Given the description of an element on the screen output the (x, y) to click on. 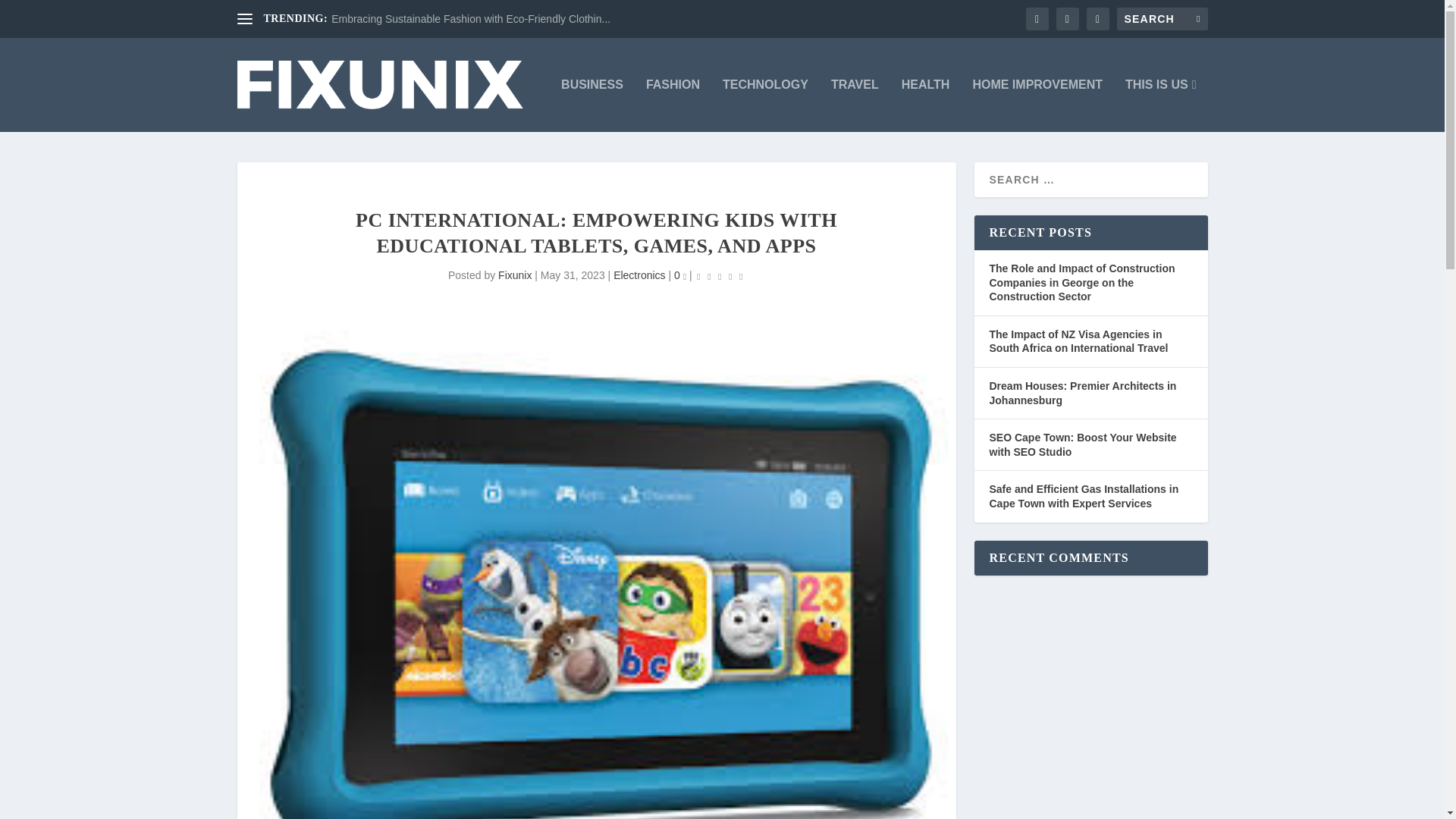
Fixunix (514, 275)
HEALTH (925, 104)
0 (679, 275)
BUSINESS (591, 104)
Rating: 0.00 (720, 275)
Search for: (1161, 18)
Embracing Sustainable Fashion with Eco-Friendly Clothin... (470, 19)
Electronics (638, 275)
FASHION (673, 104)
Posts by Fixunix (514, 275)
